Given the description of an element on the screen output the (x, y) to click on. 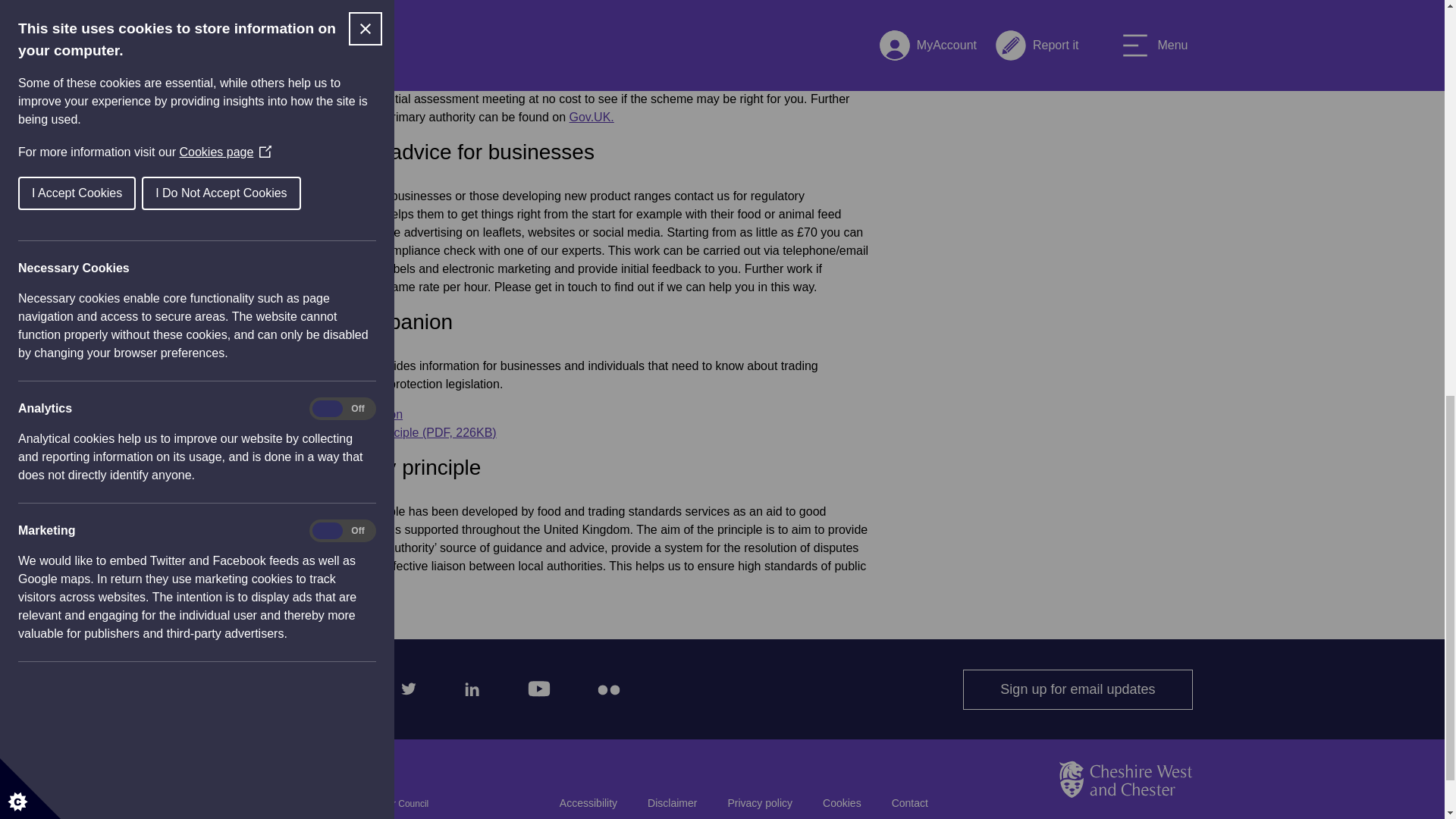
Gov.UK. (591, 116)
LinkedIn (468, 685)
External link (345, 414)
Instagram (340, 685)
Business Companion (345, 414)
Back to top (1125, 816)
Facebook (277, 685)
External link (591, 116)
home-authority-principle (392, 432)
Twitter (404, 685)
